Given the description of an element on the screen output the (x, y) to click on. 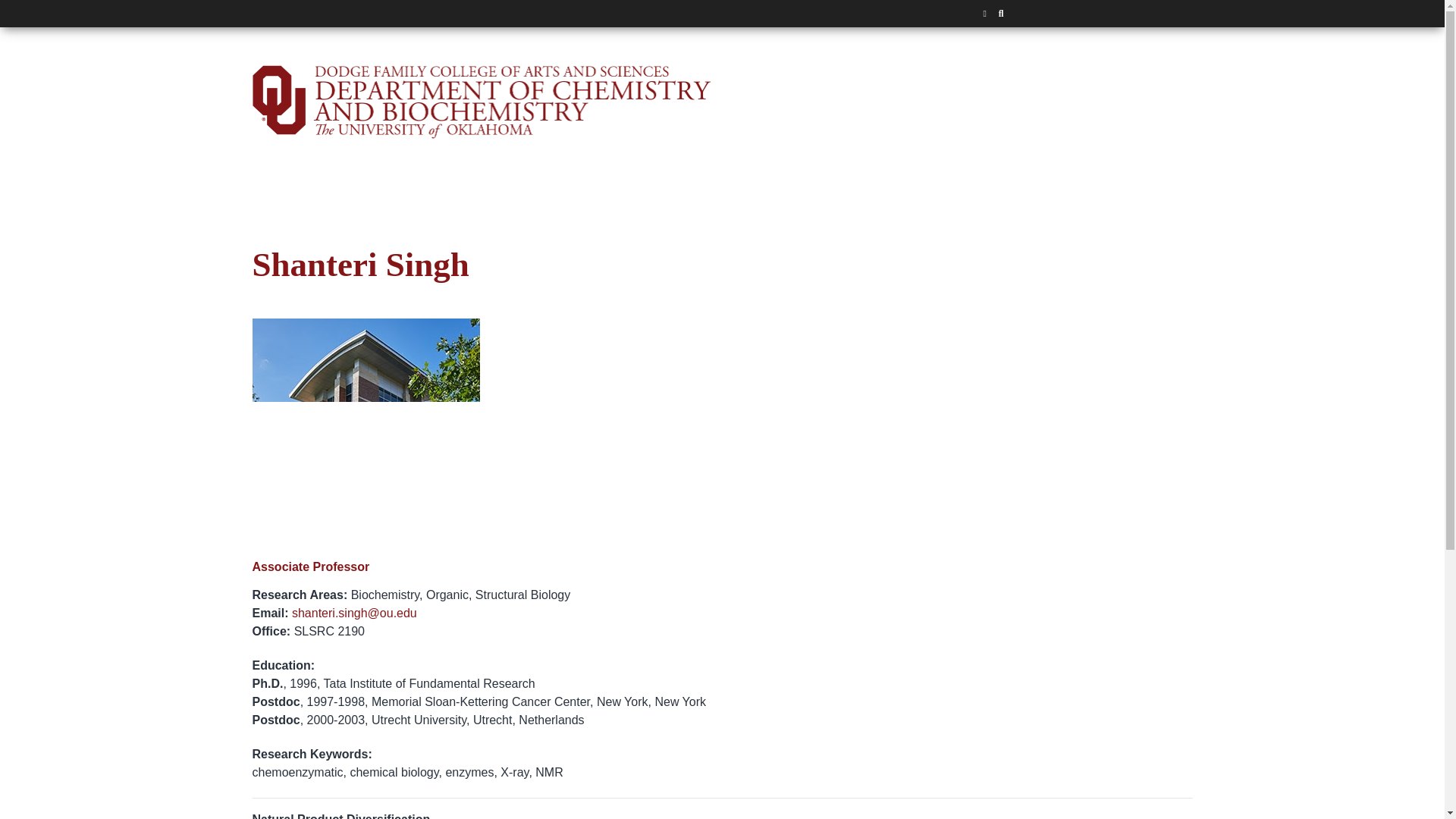
SEARCH OU (1001, 13)
OU HOMEPAGE (983, 13)
